Given the description of an element on the screen output the (x, y) to click on. 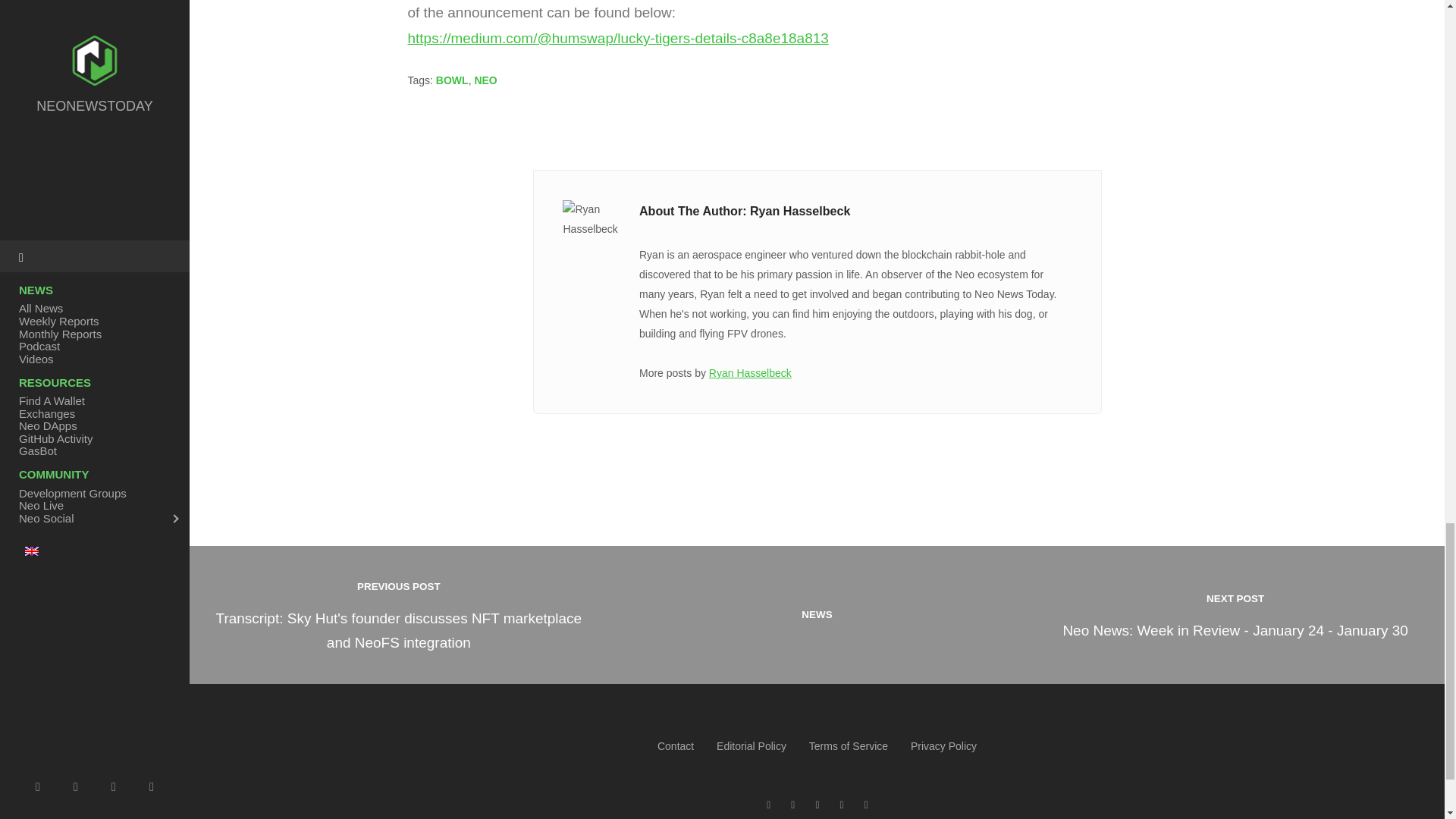
Posts by Ryan Hasselbeck (750, 372)
NEO (485, 80)
BOWL (451, 80)
